Given the description of an element on the screen output the (x, y) to click on. 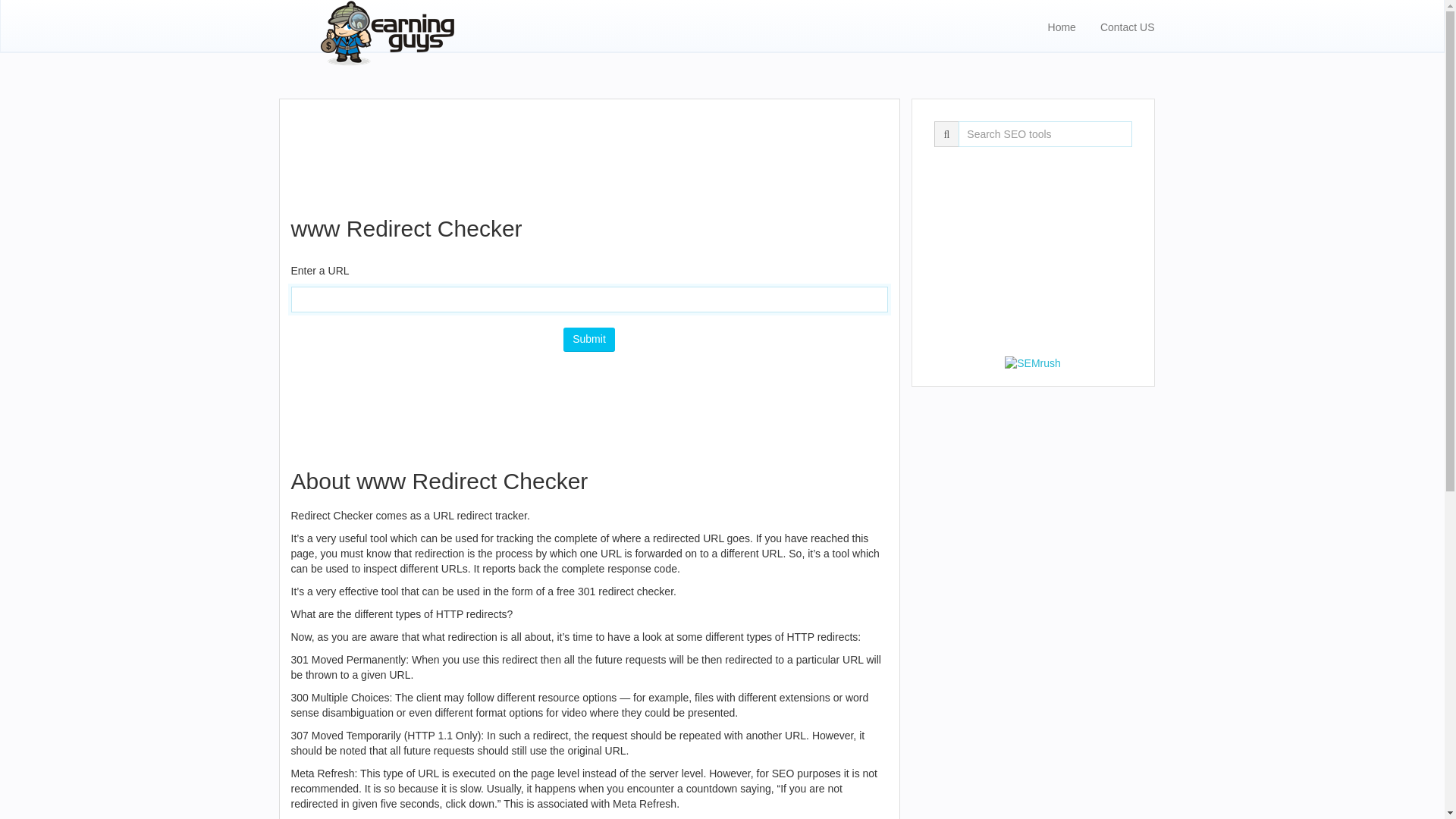
Home (1061, 25)
SEMrush (1032, 363)
Submit (588, 339)
Advertisement (1031, 257)
Contact US (1127, 25)
Advertisement (588, 400)
Advertisement (588, 148)
Submit (588, 339)
